Given the description of an element on the screen output the (x, y) to click on. 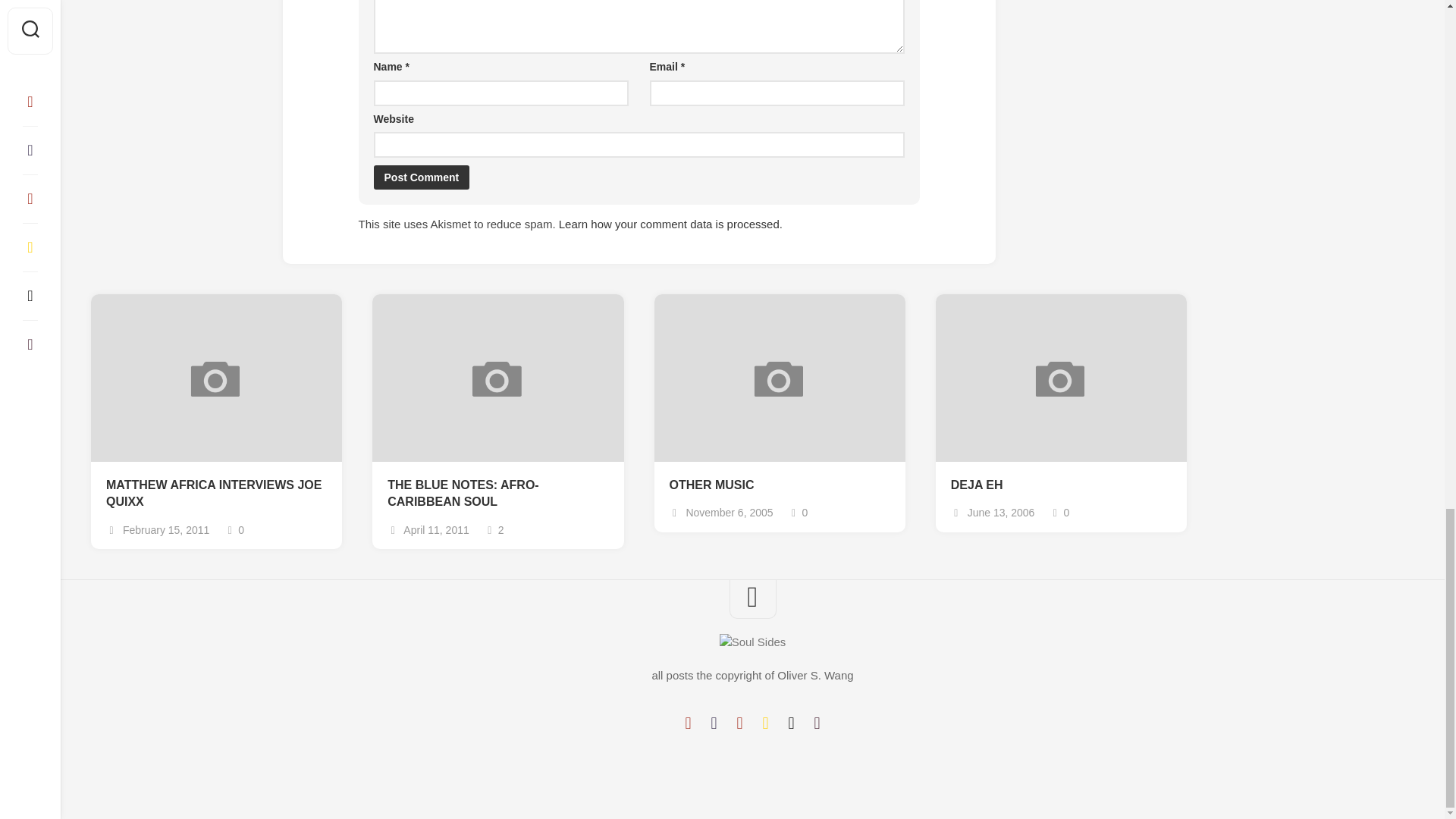
summer songs (765, 723)
Post Comment (420, 177)
instagram (739, 723)
MATTHEW AFRICA INTERVIEWS JOE QUIXX (216, 493)
OTHER MUSIC (778, 485)
2 (493, 530)
THE BLUE NOTES: AFRO-CARIBBEAN SOUL (497, 493)
0 (798, 512)
Learn how your comment data is processed (668, 223)
publication portfolio (791, 723)
discogs store (816, 723)
0 (1058, 512)
Post Comment (420, 177)
DEJA EH (1061, 485)
0 (234, 530)
